Given the description of an element on the screen output the (x, y) to click on. 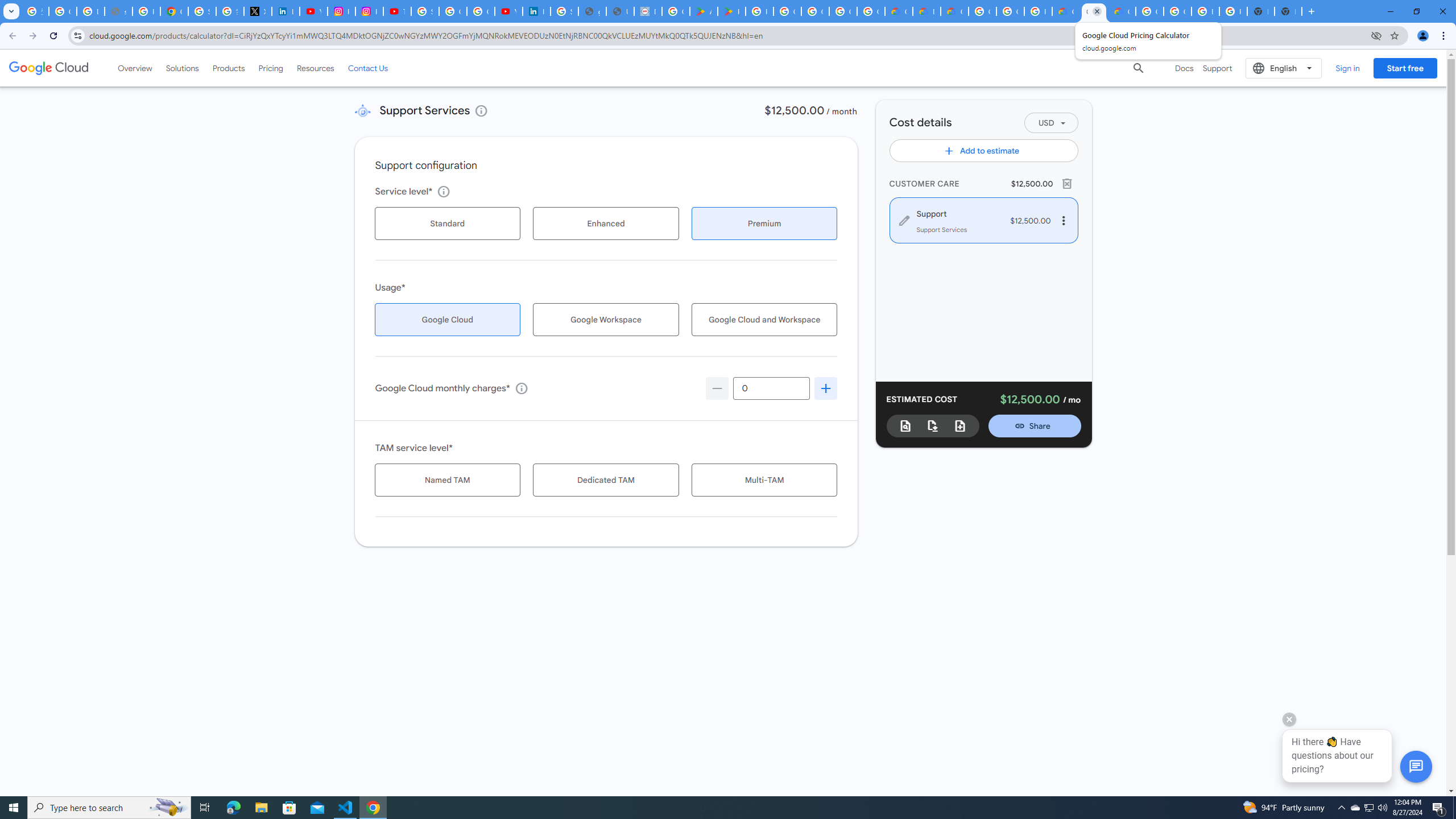
Google Workspace - Specific Terms (842, 11)
Google Cloud Platform (982, 11)
Increment (825, 387)
Data Privacy Framework (647, 11)
Sign in - Google Accounts (564, 11)
Sign in - Google Accounts (425, 11)
New estimate from duplicate (960, 425)
tooltip (520, 387)
Android Apps on Google Play (703, 11)
